Given the description of an element on the screen output the (x, y) to click on. 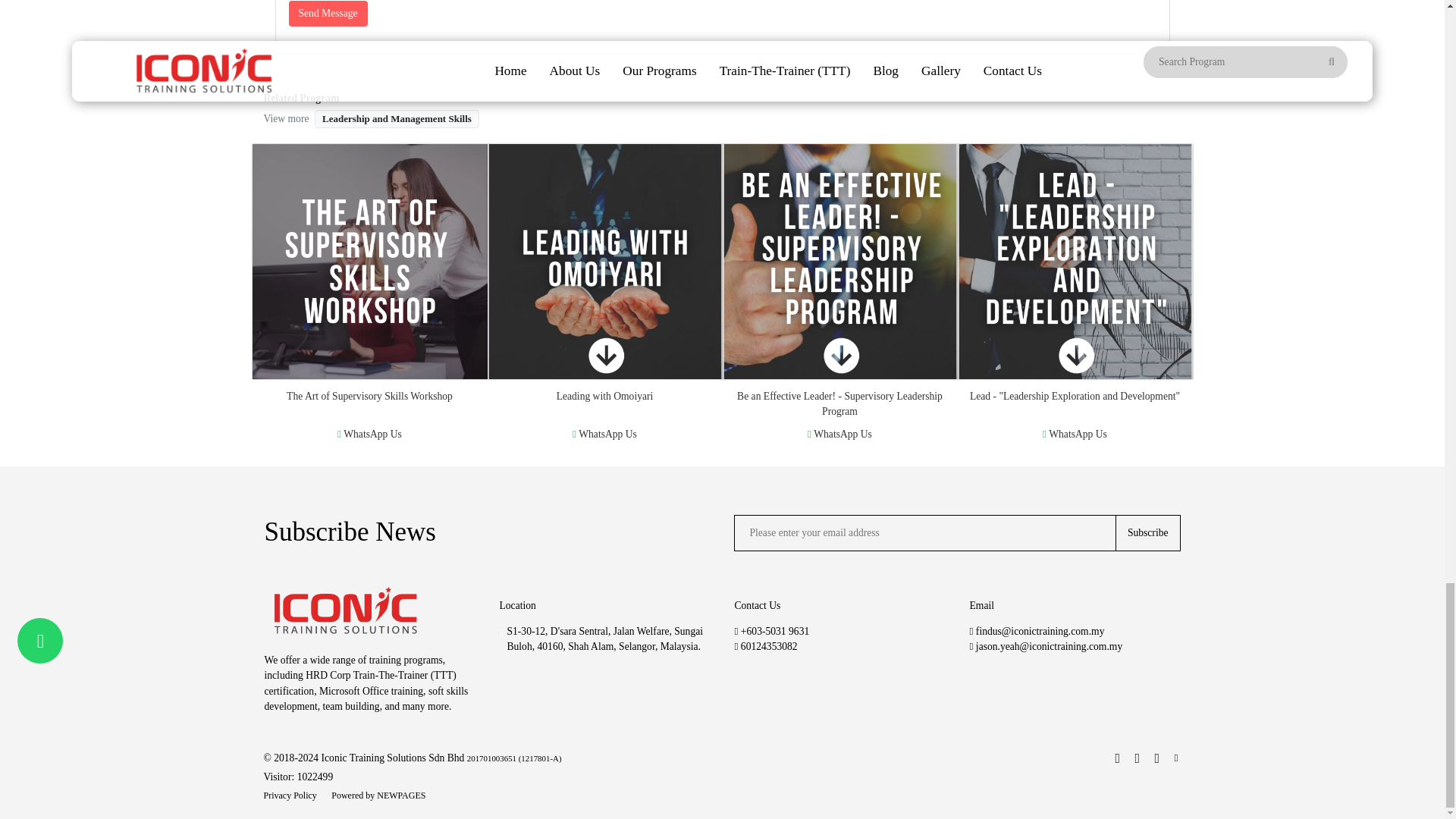
Send Message (327, 13)
